Given the description of an element on the screen output the (x, y) to click on. 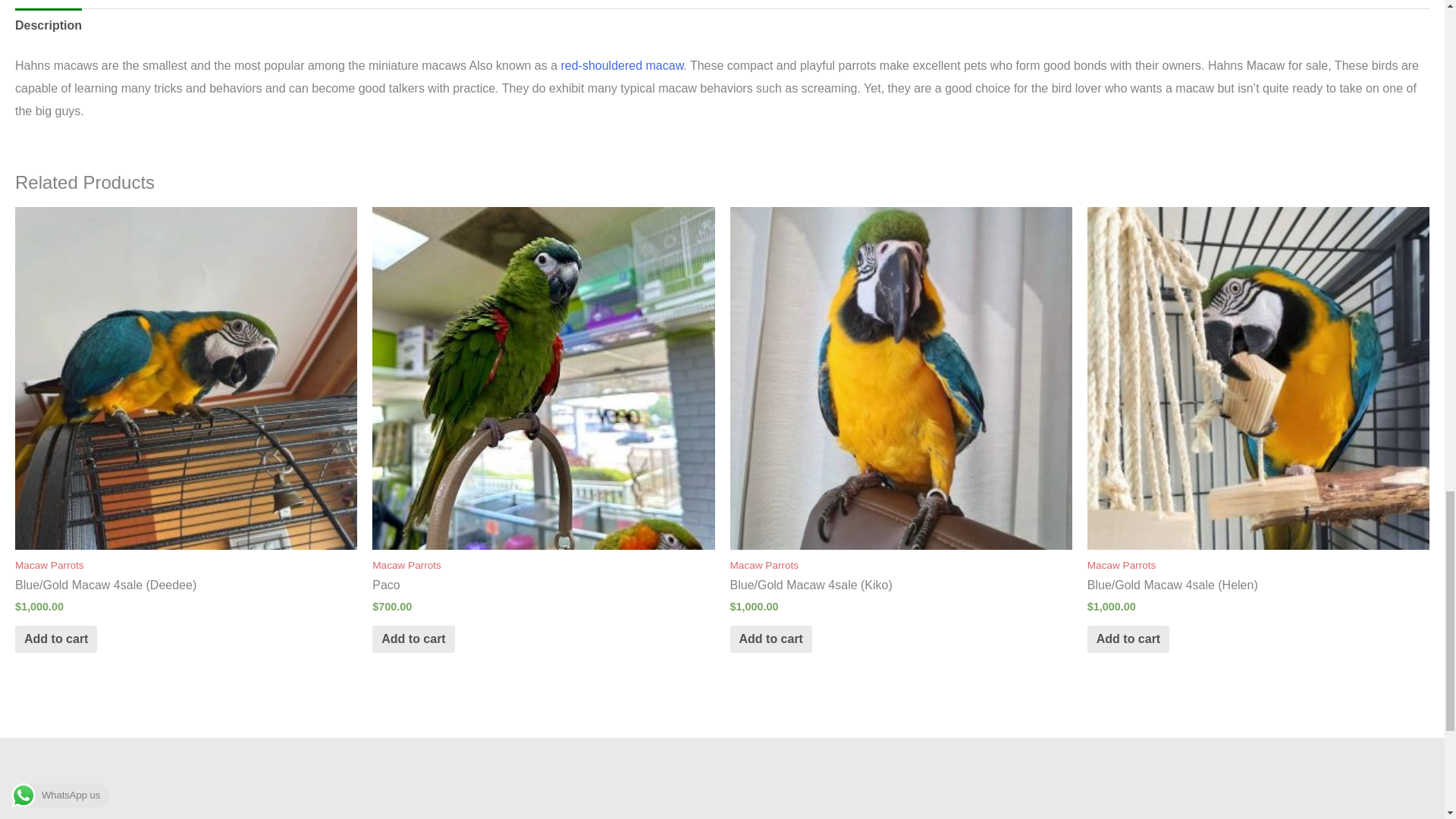
Description (47, 25)
Add to cart (1128, 639)
Add to cart (413, 639)
Add to cart (55, 639)
Add to cart (769, 639)
red-shouldered macaw (621, 65)
Paco (543, 585)
